Given the description of an element on the screen output the (x, y) to click on. 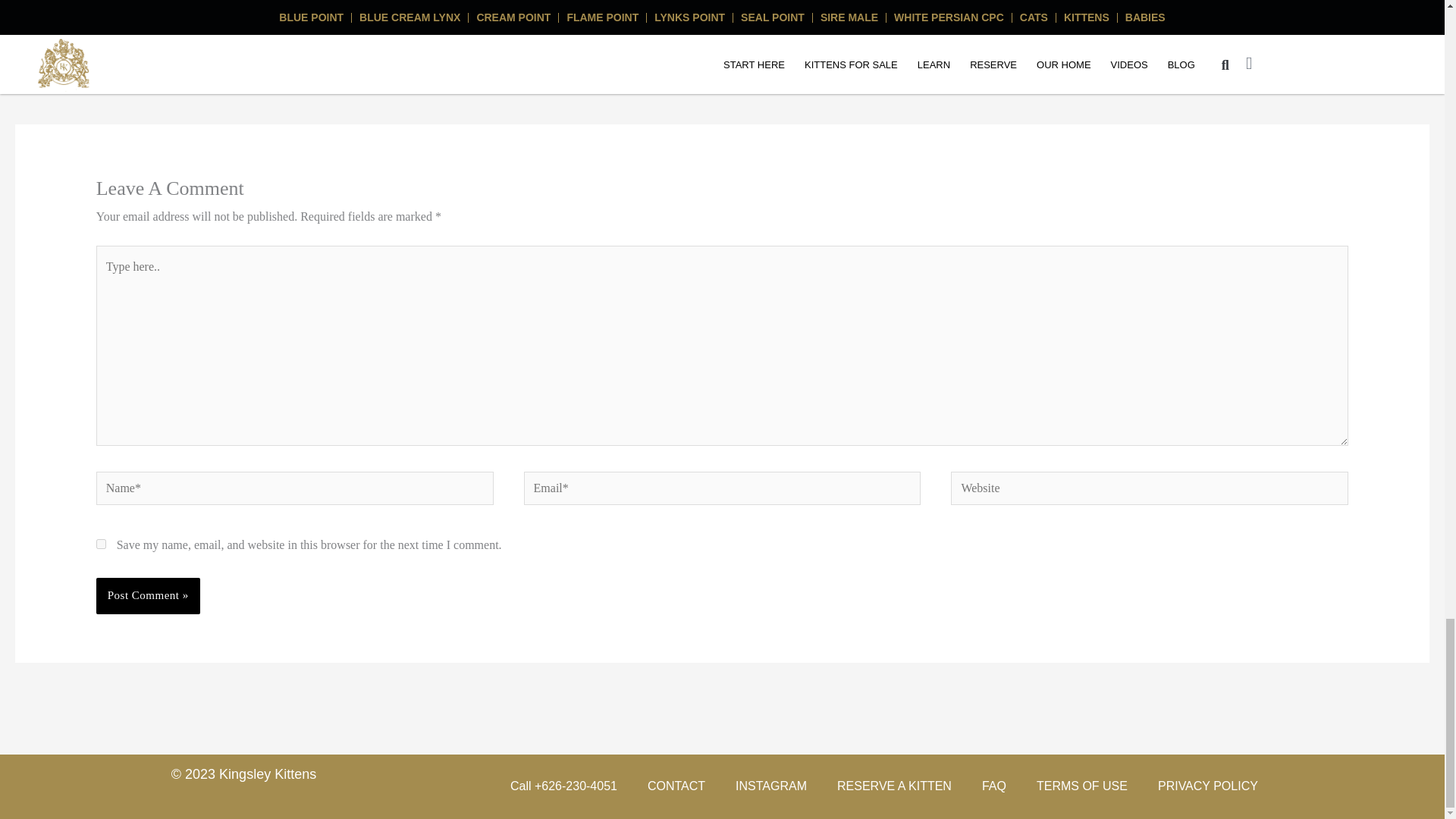
yes (101, 543)
